Given the description of an element on the screen output the (x, y) to click on. 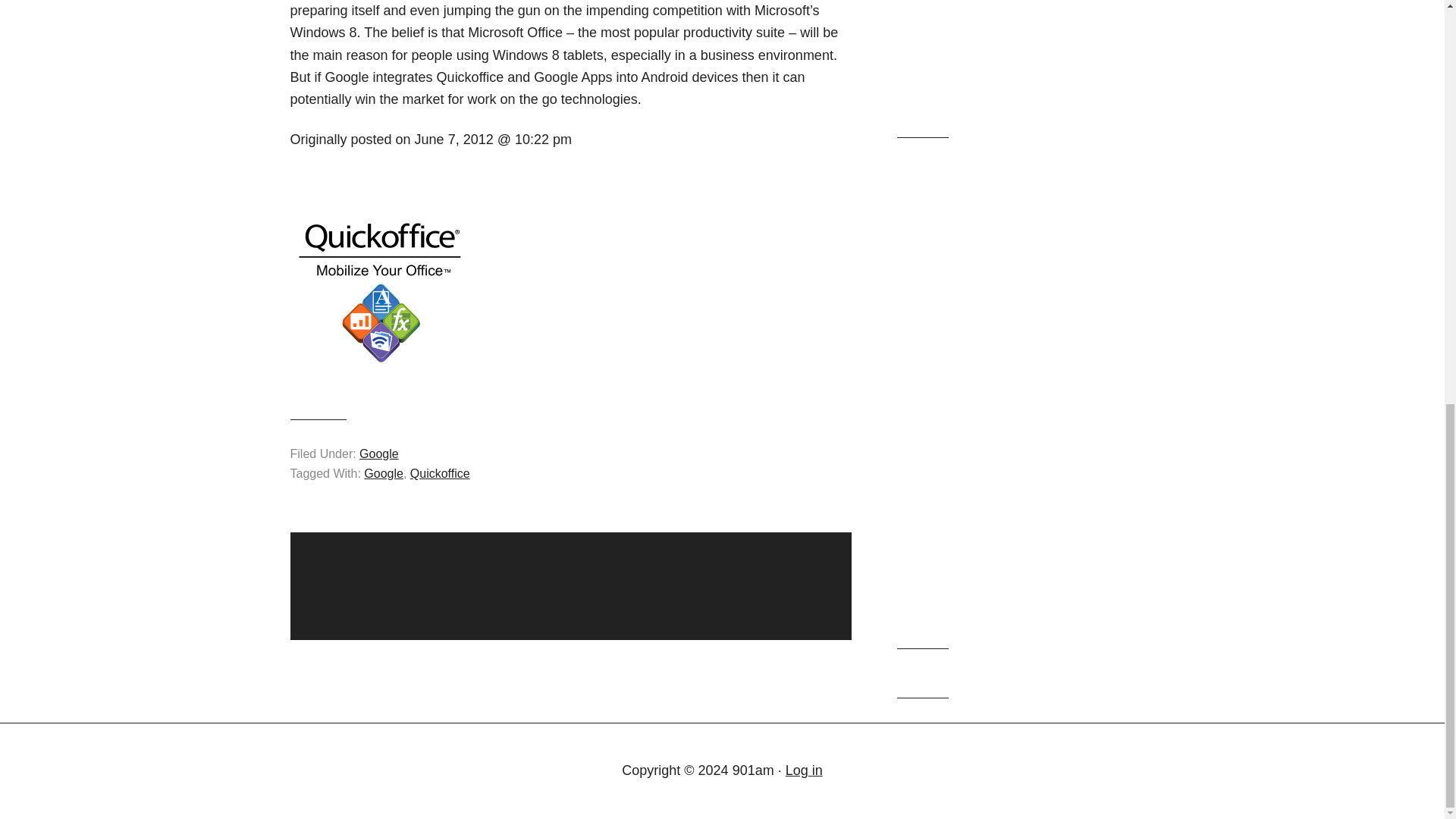
Google (378, 453)
Log in (804, 770)
Advertisement (1025, 56)
Quickoffice (440, 472)
Google (383, 472)
